Given the description of an element on the screen output the (x, y) to click on. 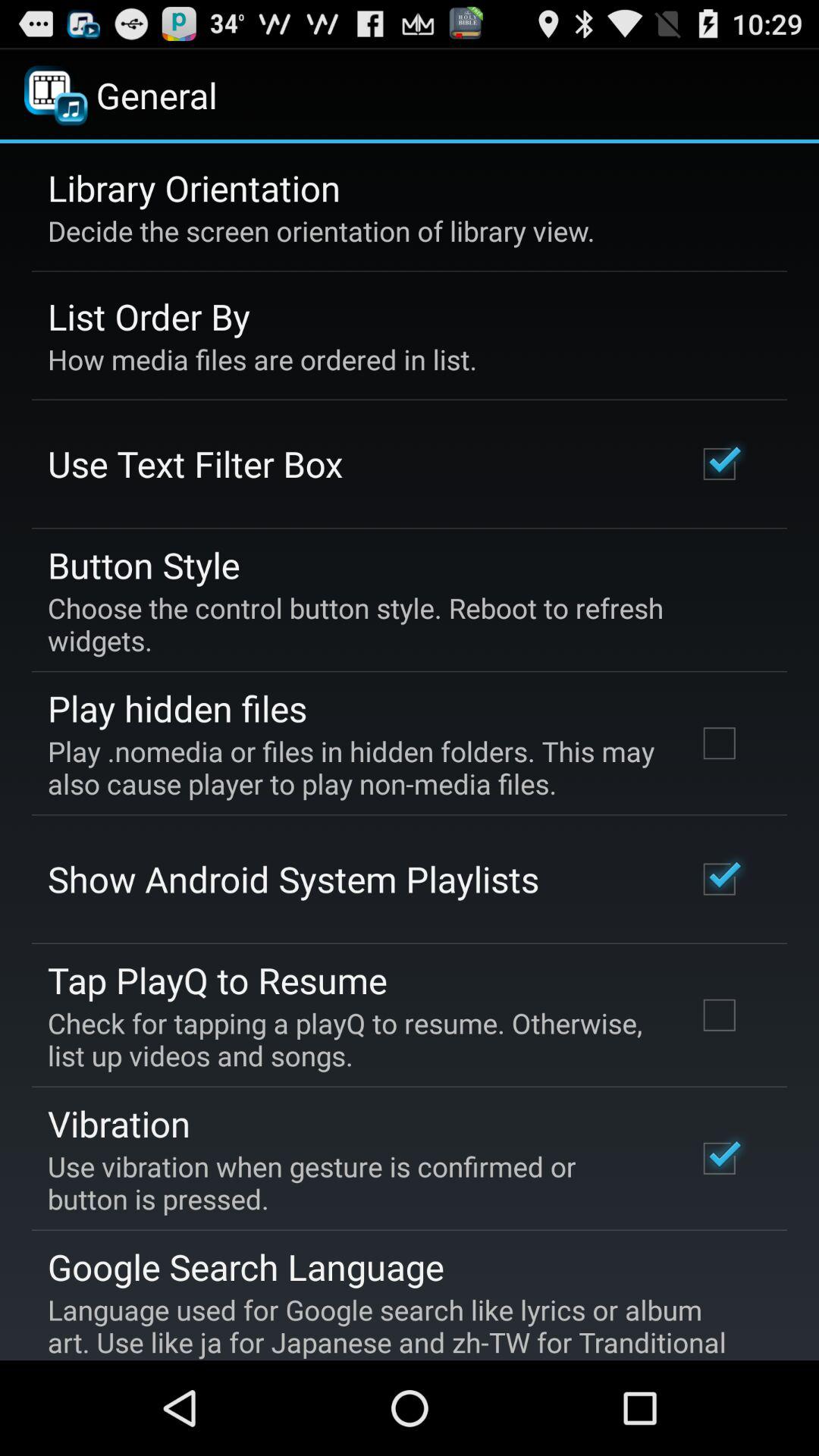
swipe to the use text filter app (194, 463)
